Given the description of an element on the screen output the (x, y) to click on. 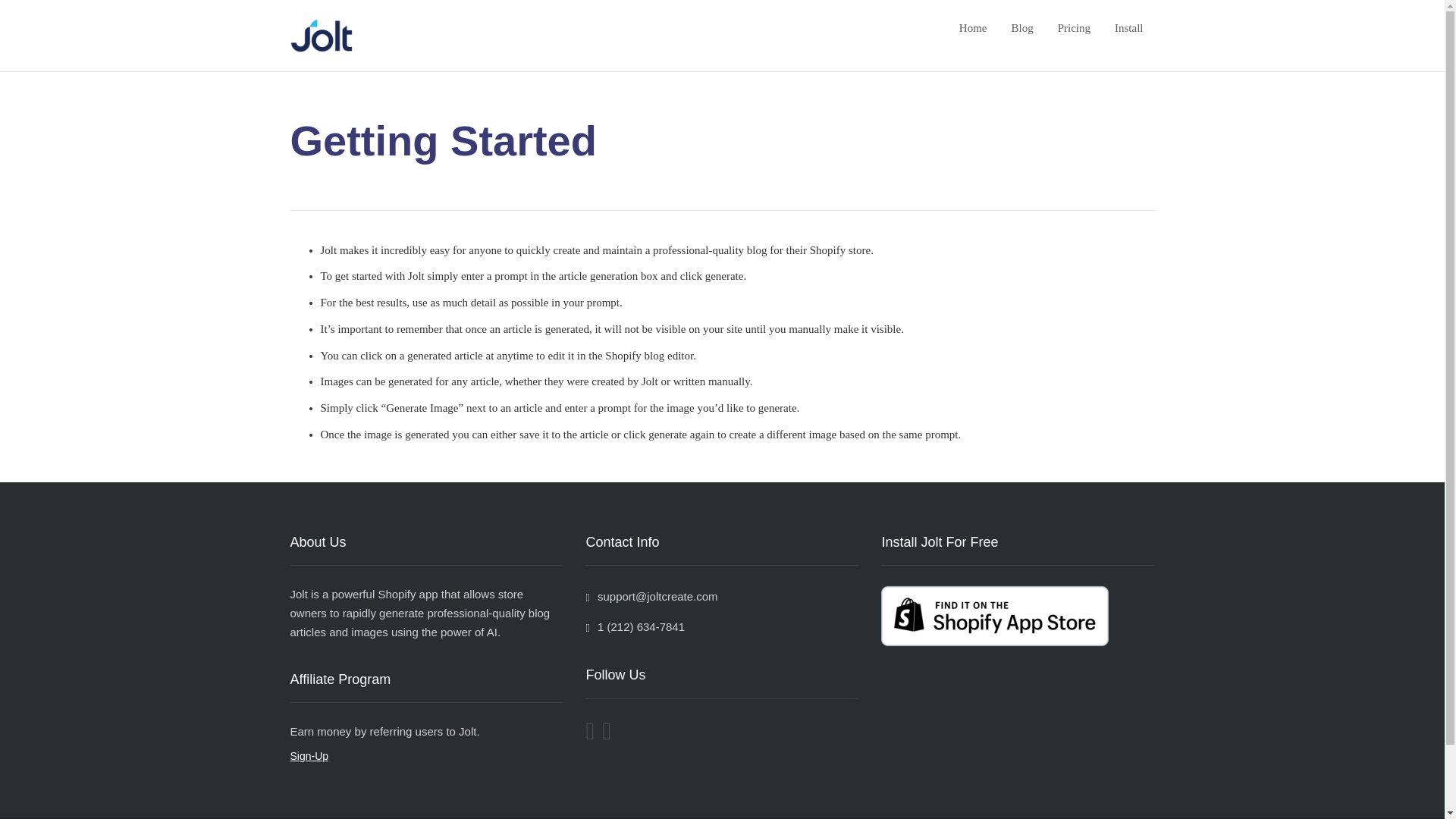
Sign-Up (309, 756)
